Given the description of an element on the screen output the (x, y) to click on. 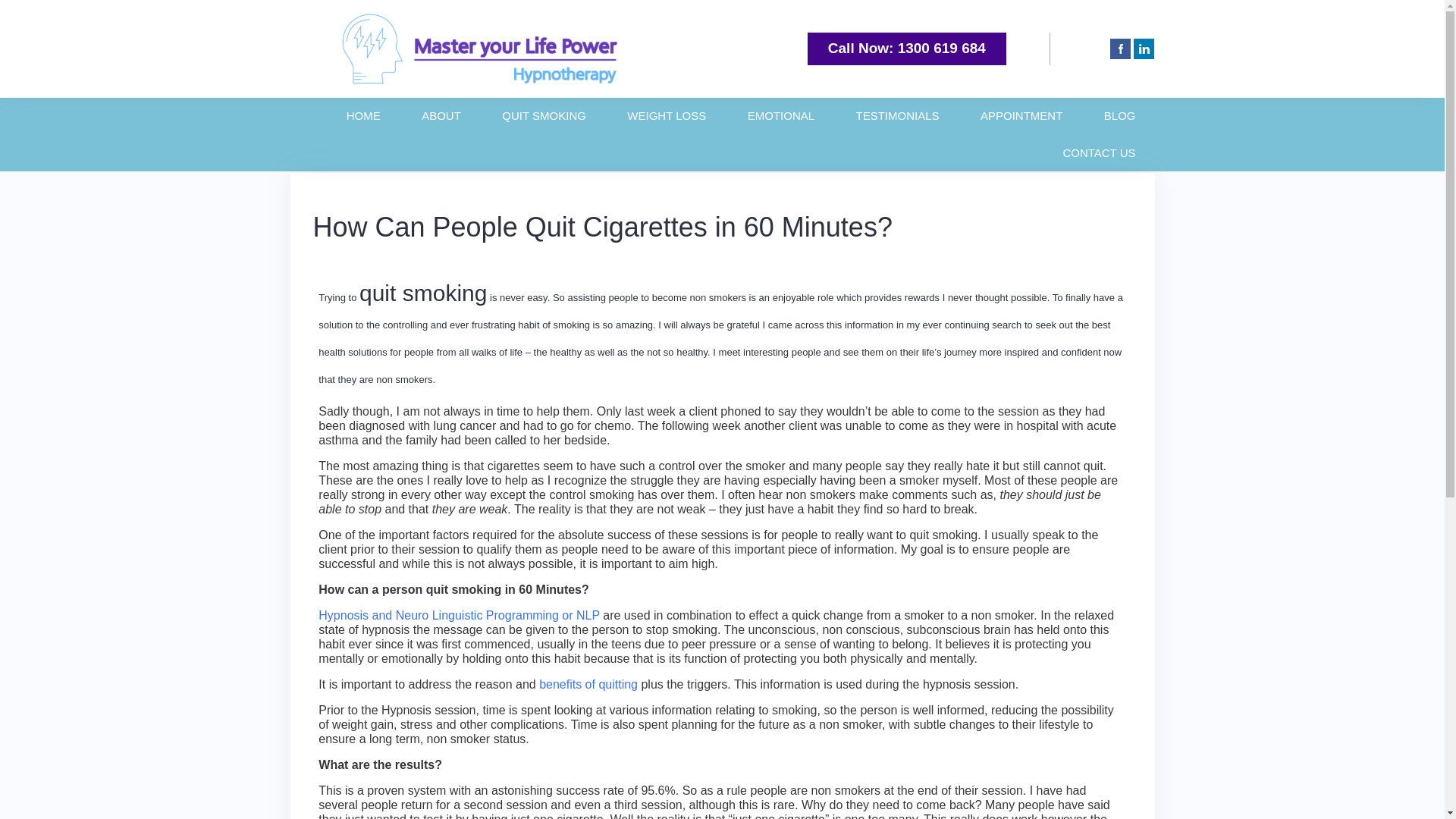
TESTIMONIALS (897, 116)
BLOG (1120, 116)
QUIT SMOKING (543, 116)
Why Stop Smoking (586, 684)
EMOTIONAL (780, 116)
WEIGHT LOSS (666, 116)
HOME (362, 116)
ABOUT (440, 116)
CONTACT US (1099, 153)
Call Now: 1300 619 684 (906, 48)
 benefits of quitting (586, 684)
Quit Smoking Hypnotherapy (460, 615)
Hypnosis and Neuro Linguistic Programming or NLP  (460, 615)
APPOINTMENT (1021, 116)
